Given the description of an element on the screen output the (x, y) to click on. 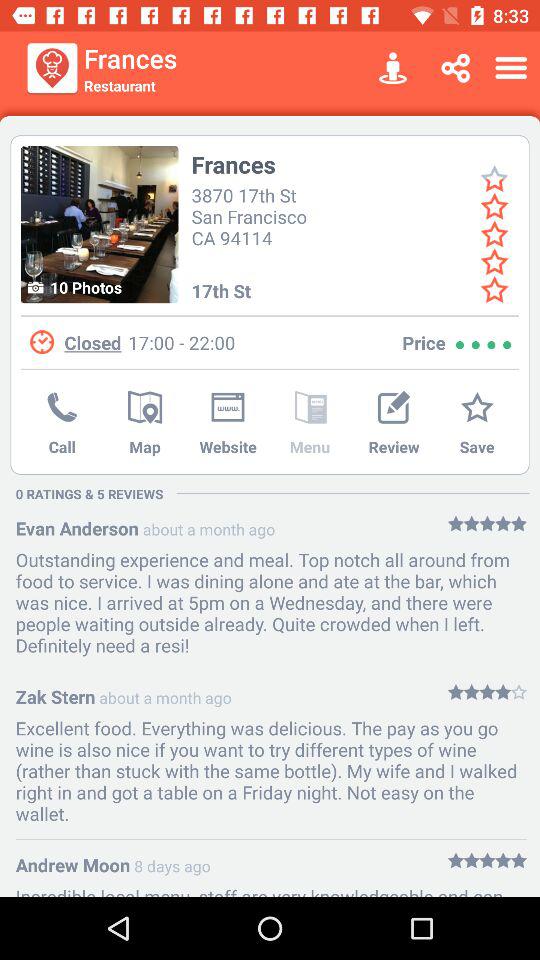
scroll to the 3870 17th st icon (251, 214)
